Given the description of an element on the screen output the (x, y) to click on. 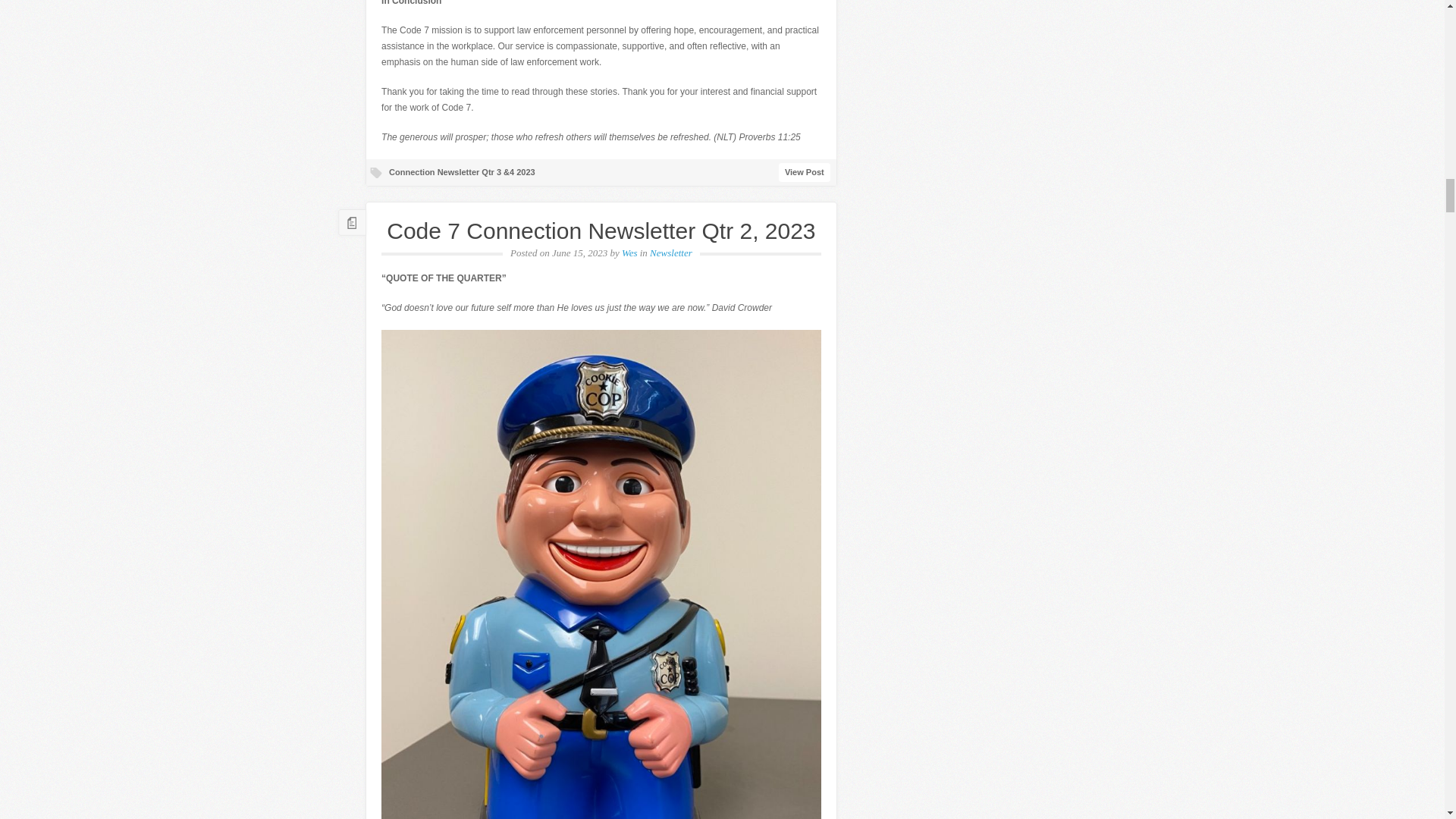
Code 7 Connection Newsletter Qtr 2, 2023 (601, 230)
Newsletter (671, 252)
View Post (803, 171)
View all posts by Wes (629, 252)
Code 7 Connection Newsletter Qtr 2, 2023 (601, 230)
Wes (629, 252)
